Given the description of an element on the screen output the (x, y) to click on. 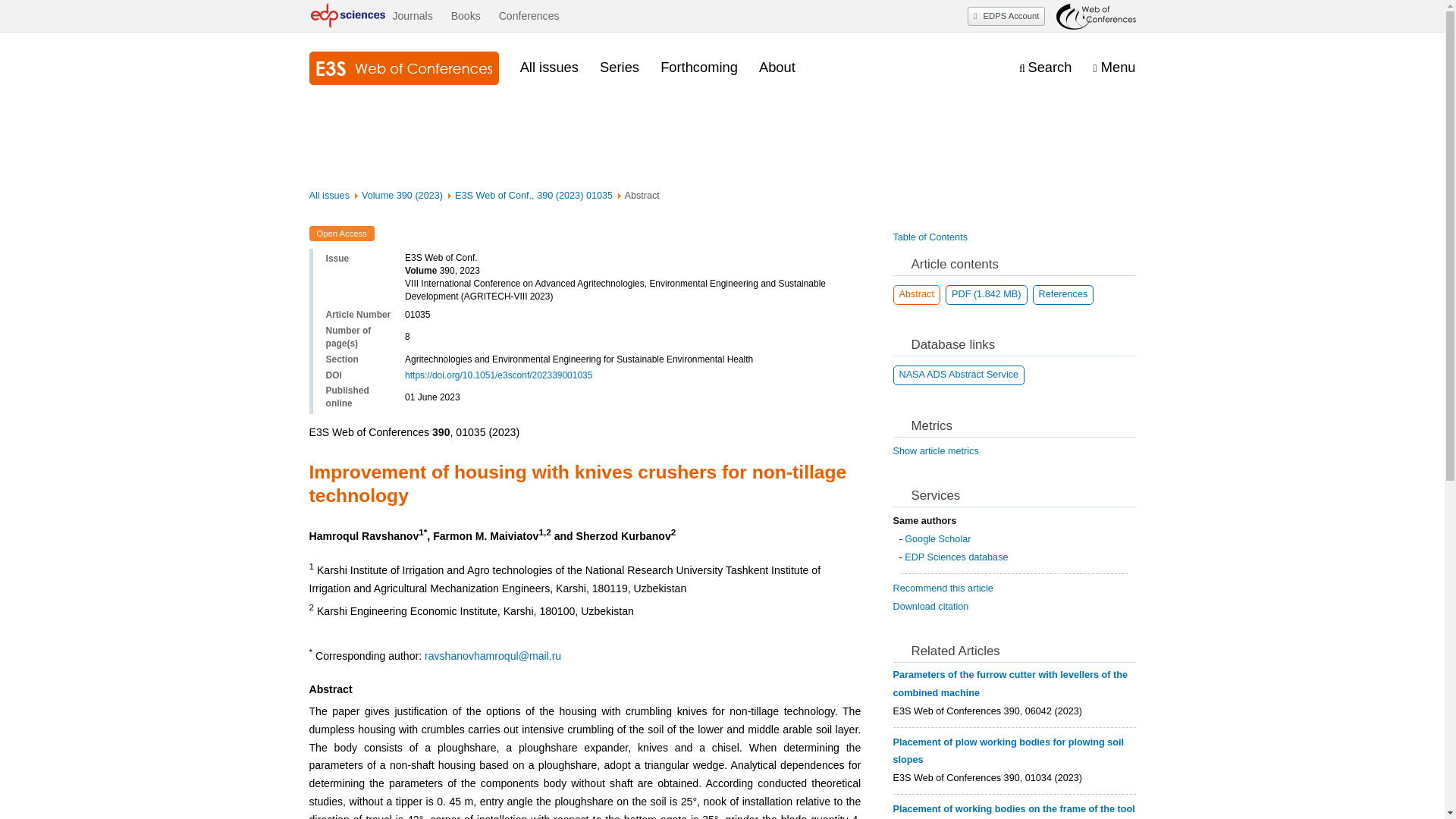
All issues (548, 67)
Series (619, 67)
Forthcoming (699, 67)
Abstract (916, 294)
Conferences (529, 16)
References (1063, 294)
Journals (411, 16)
All issues (328, 195)
Books (465, 16)
Journal homepage (403, 67)
About (776, 67)
Display the search engine (1045, 67)
Menu (1114, 67)
